Given the description of an element on the screen output the (x, y) to click on. 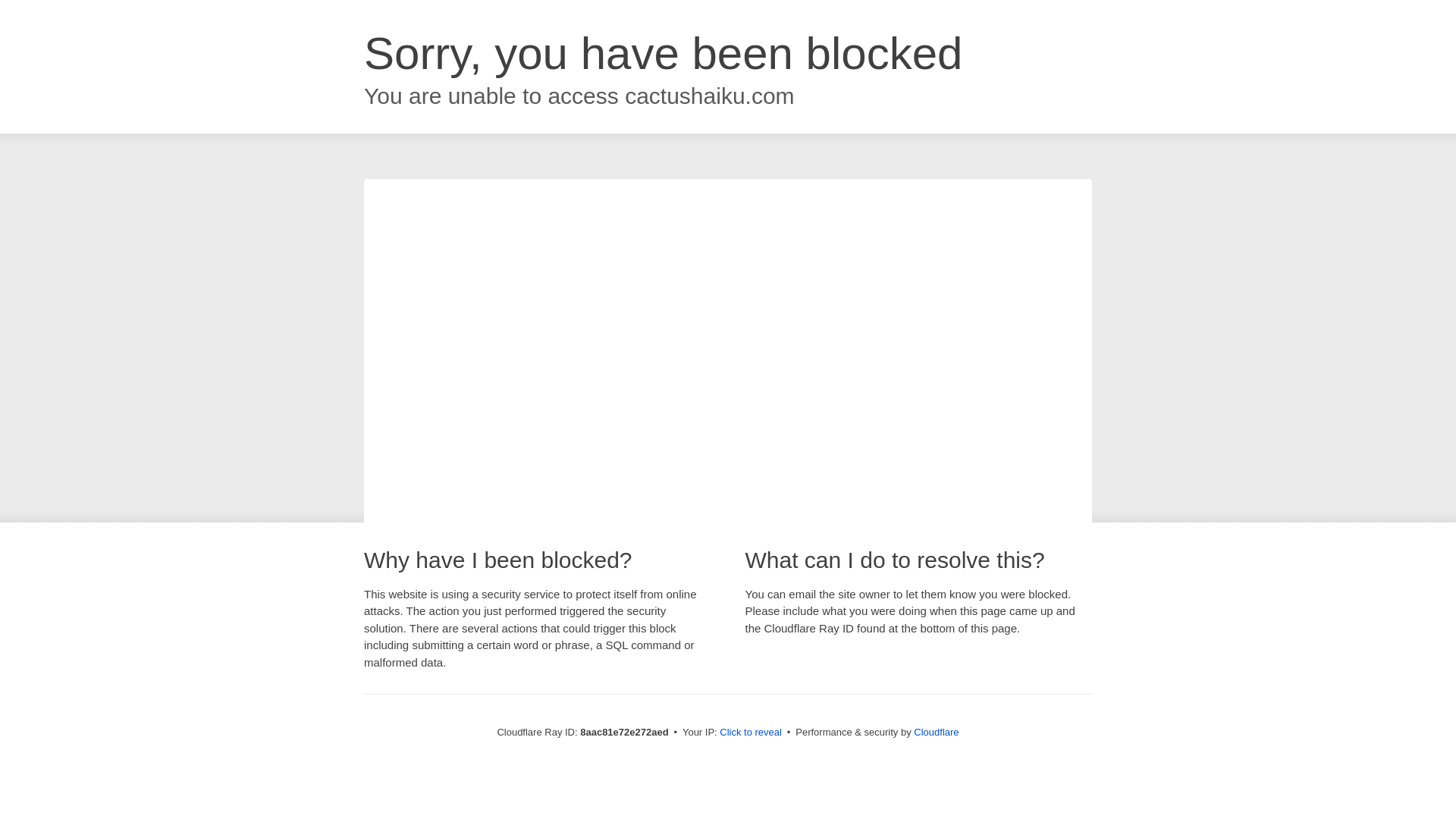
Cloudflare (936, 731)
Click to reveal (750, 732)
